Given the description of an element on the screen output the (x, y) to click on. 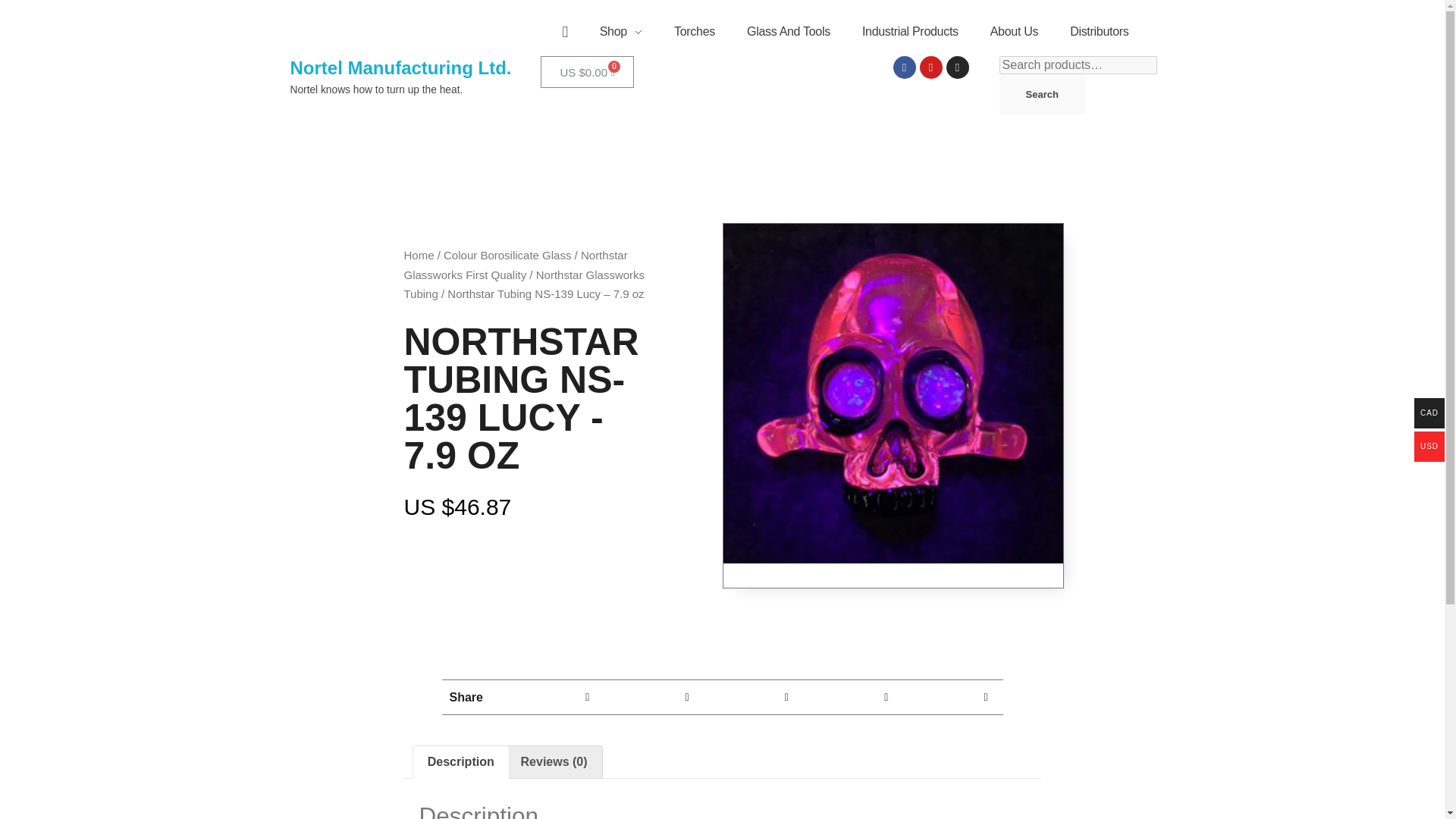
Northstar Glassworks Tubing (524, 284)
Nortel Manufacturing Ltd. (400, 67)
Glass And Tools (787, 31)
Torches (694, 31)
Shop (620, 31)
Home (418, 254)
Search (1041, 94)
Industrial Products (909, 31)
Colour Borosilicate Glass (507, 254)
Nortel Manufacturing Ltd. (400, 67)
About Us (1014, 31)
Distributors (1091, 31)
Northstar Glassworks First Quality (515, 264)
Description (460, 762)
Lucy-NS-139-600x600 (892, 393)
